Given the description of an element on the screen output the (x, y) to click on. 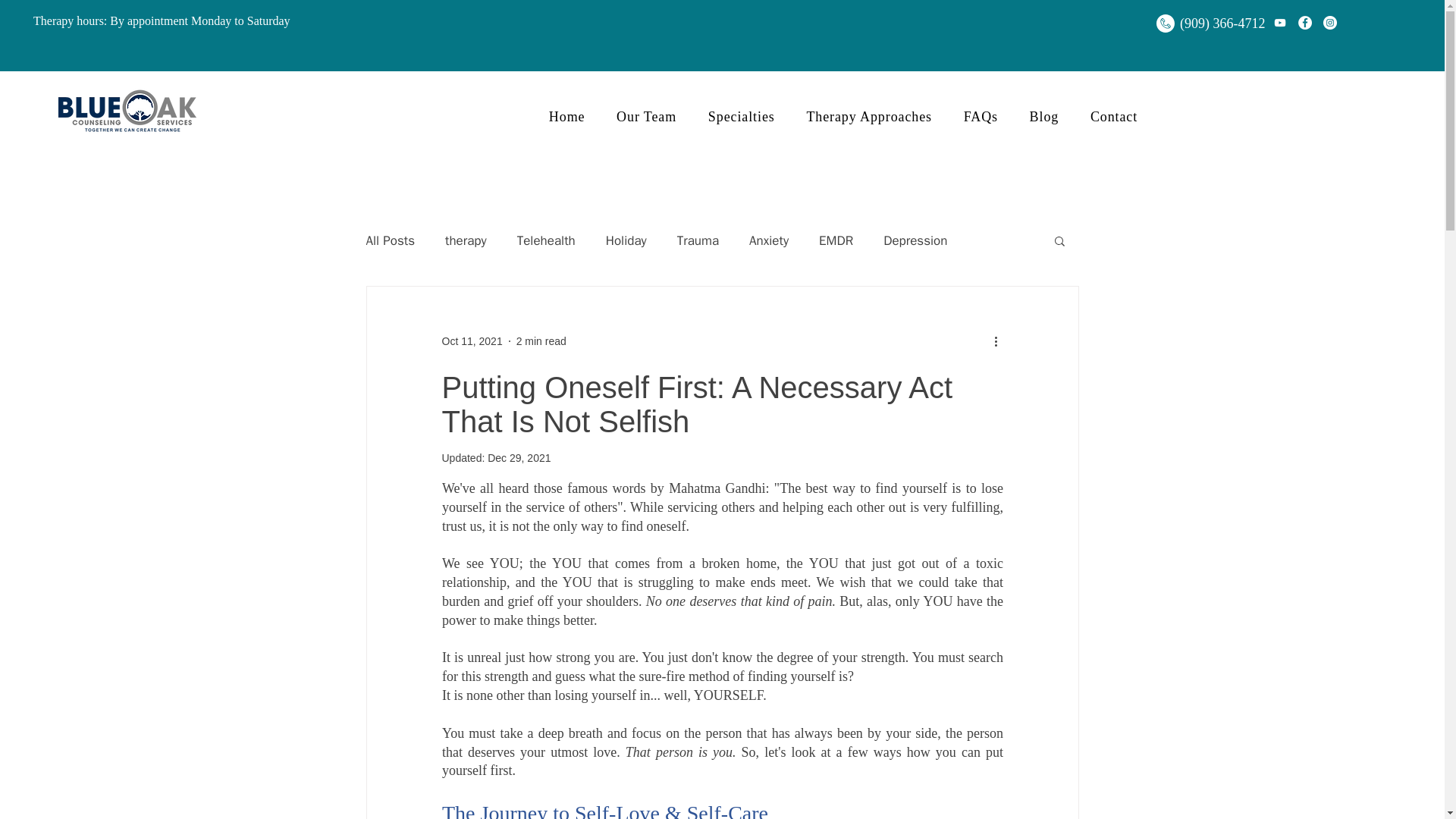
Blog (1043, 116)
Therapy Approaches (868, 116)
FAQs (980, 116)
therapy (465, 240)
Oct 11, 2021 (471, 340)
Telehealth (545, 240)
All Posts (389, 240)
2 min read (541, 340)
Our Team (646, 116)
Contact (1113, 116)
Home (565, 116)
Specialties (741, 116)
Dec 29, 2021 (518, 458)
